Given the description of an element on the screen output the (x, y) to click on. 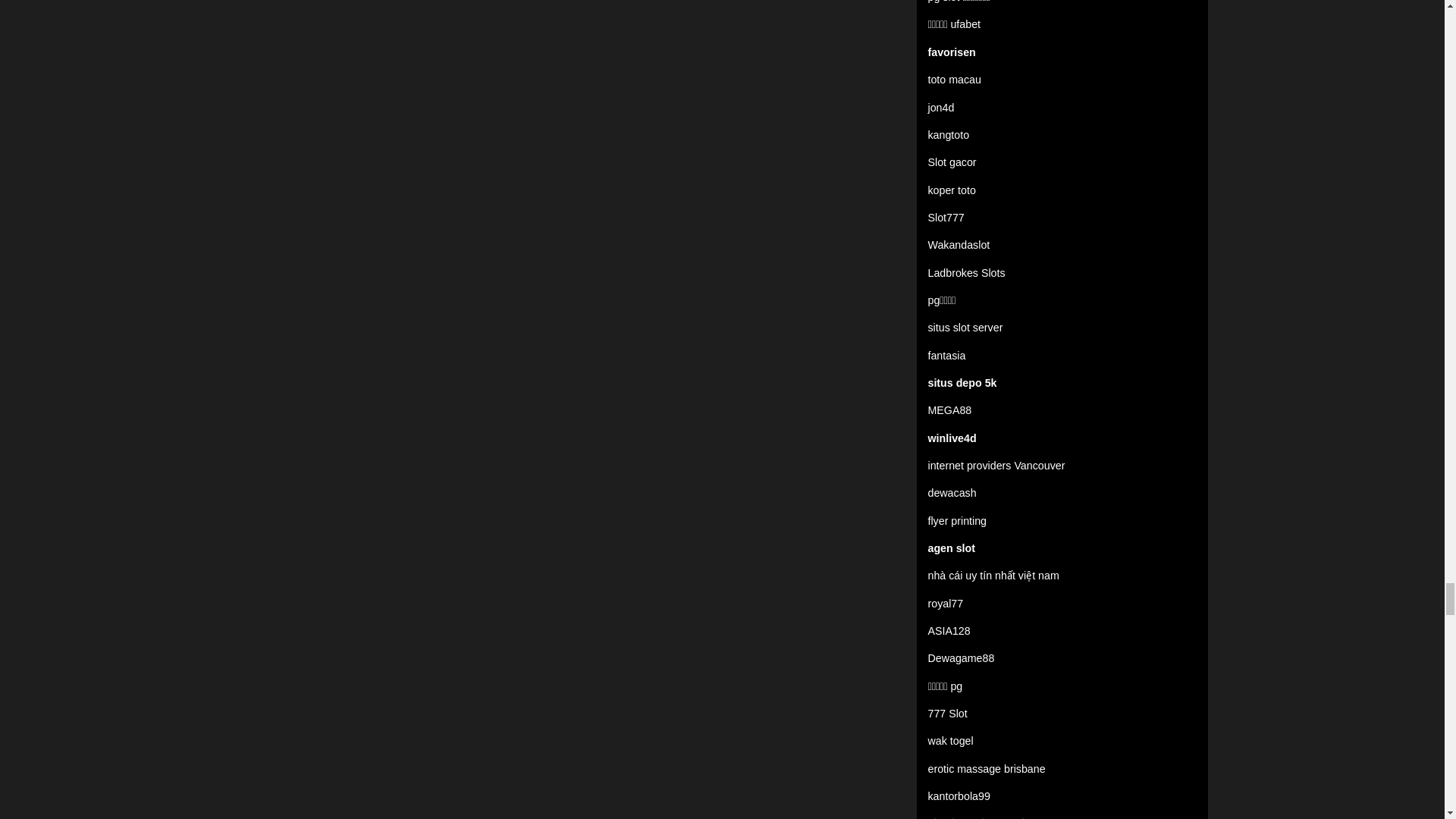
favorisen (951, 51)
